Given the description of an element on the screen output the (x, y) to click on. 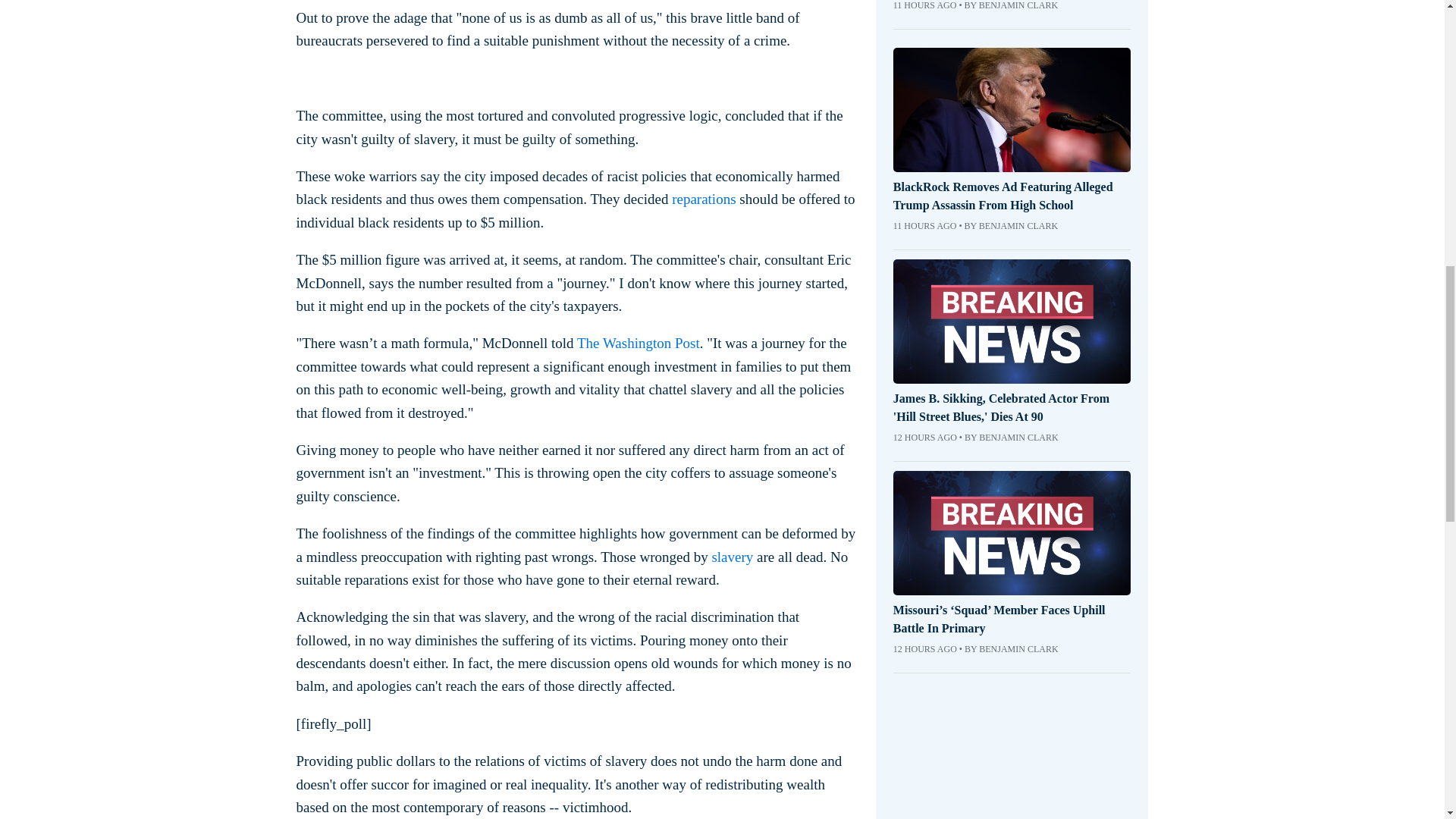
slavery (731, 556)
The Washington Post (638, 342)
reparations (703, 198)
